Given the description of an element on the screen output the (x, y) to click on. 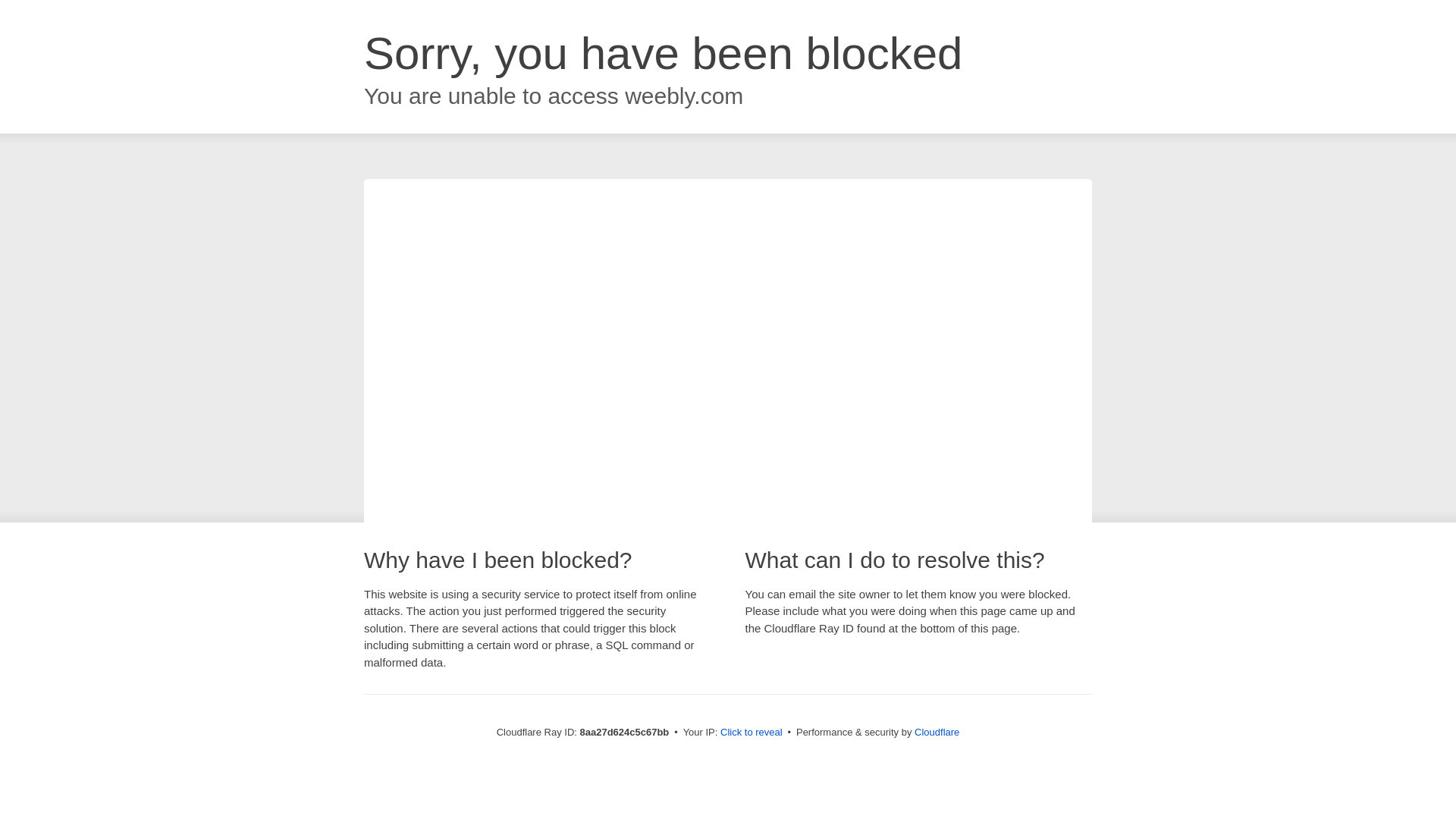
Click to reveal (751, 732)
Cloudflare (936, 731)
